Given the description of an element on the screen output the (x, y) to click on. 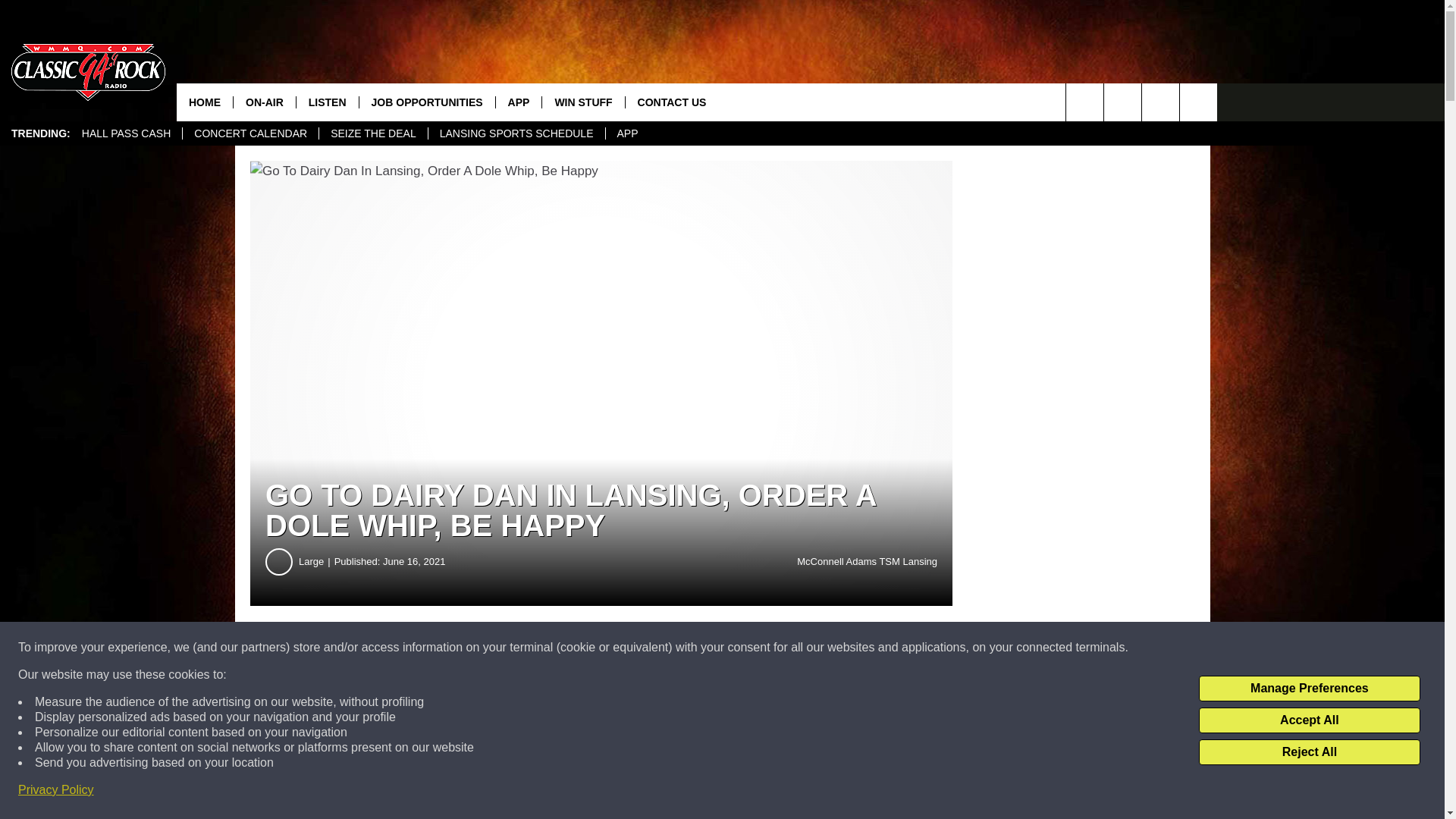
APP (518, 102)
HALL PASS CASH (126, 133)
JOB OPPORTUNITIES (426, 102)
WIN STUFF (582, 102)
ON-AIR (263, 102)
Share on Twitter (741, 647)
CONCERT CALENDAR (250, 133)
Manage Preferences (1309, 688)
Share on Facebook (460, 647)
LANSING SPORTS SCHEDULE (516, 133)
HOME (204, 102)
SEIZE THE DEAL (373, 133)
APP (627, 133)
CONTACT US (671, 102)
Privacy Policy (55, 789)
